Given the description of an element on the screen output the (x, y) to click on. 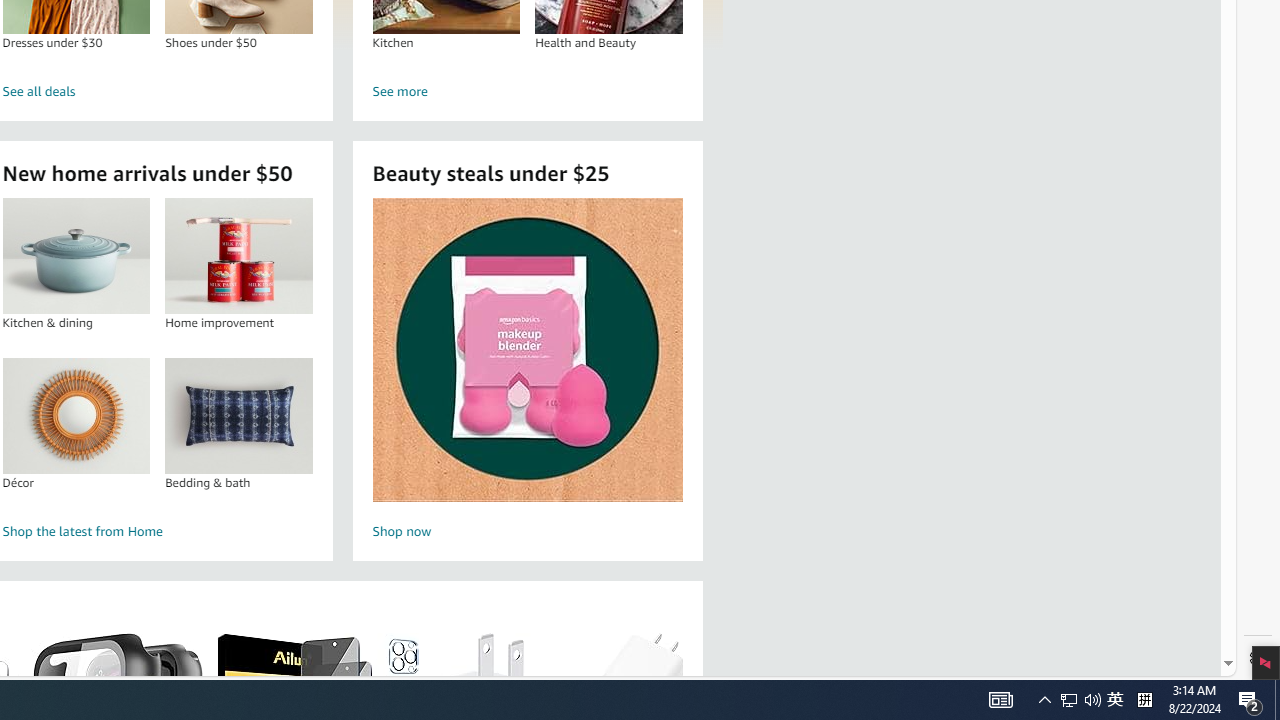
Bedding & bath (239, 415)
Bedding & bath (238, 415)
Beauty steals under $25 (526, 349)
Home improvement (238, 256)
Beauty steals under $25 Shop now (527, 371)
Shop the latest from Home (157, 532)
Home improvement (239, 256)
See more (527, 92)
See all deals (157, 92)
Kitchen & dining (75, 256)
